Given the description of an element on the screen output the (x, y) to click on. 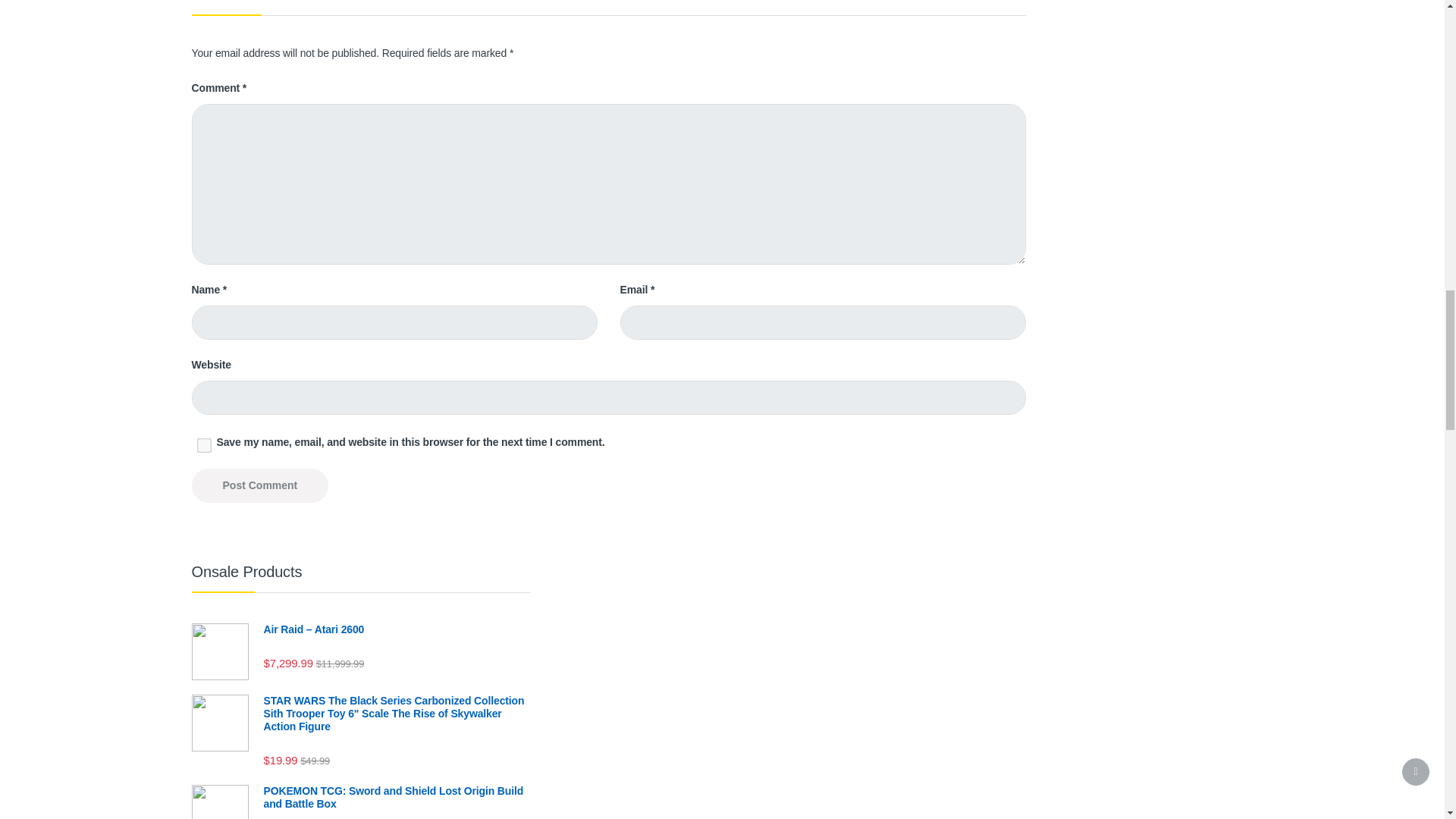
yes (201, 442)
Post Comment (259, 485)
